Given the description of an element on the screen output the (x, y) to click on. 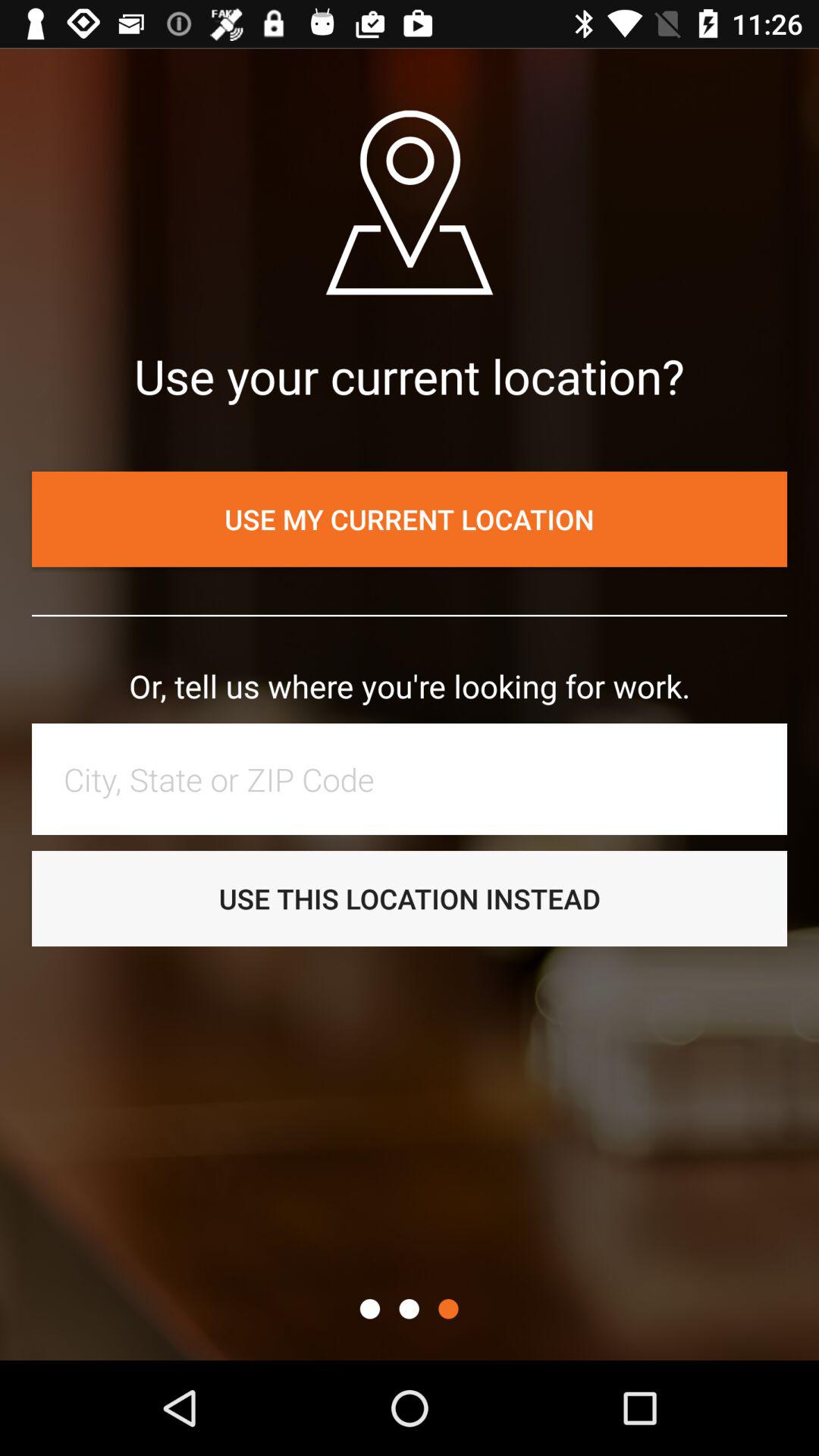
jump to screen (369, 1308)
